Given the description of an element on the screen output the (x, y) to click on. 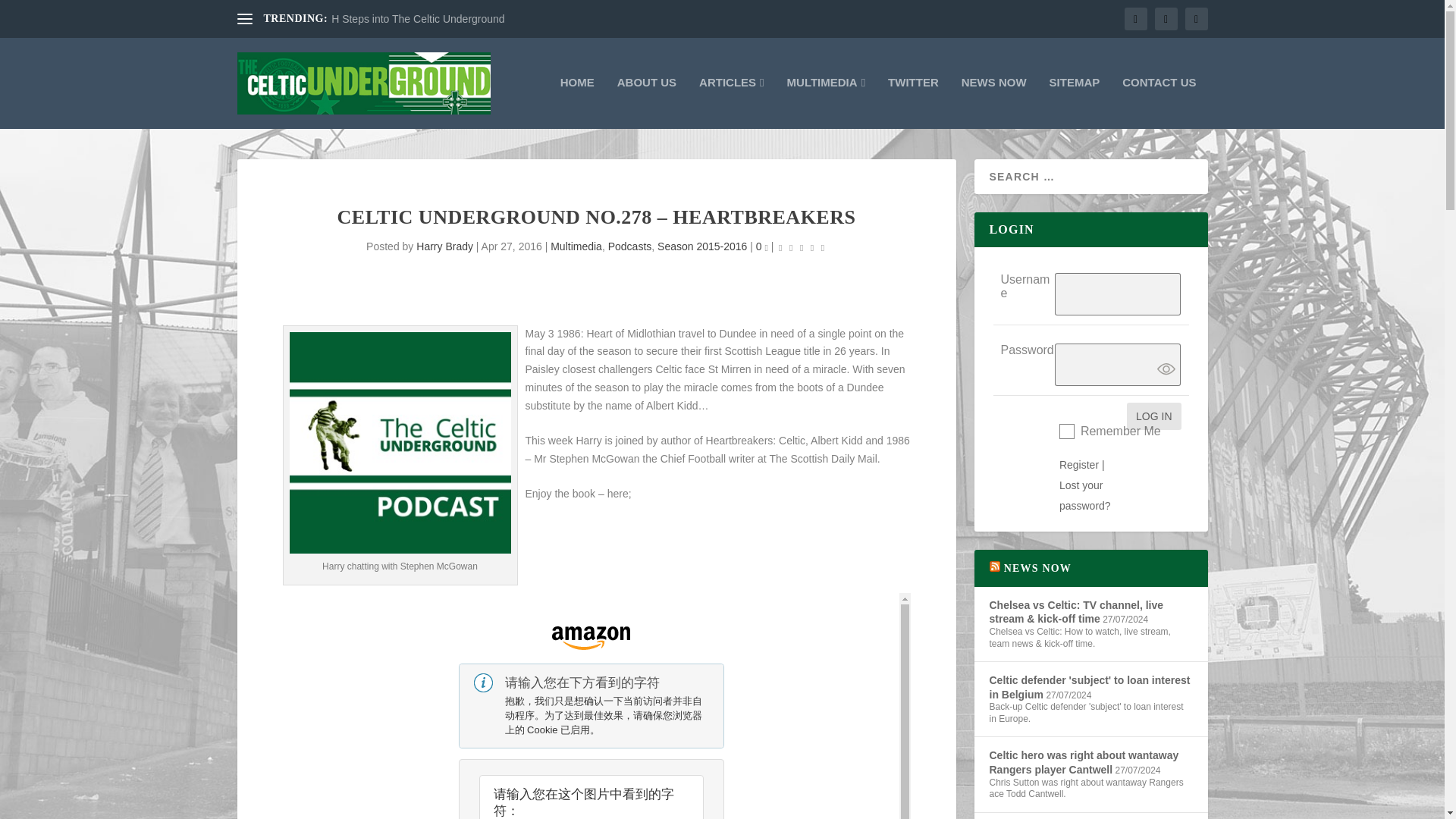
H Steps into The Celtic Underground (418, 19)
Log In (1153, 415)
Posts by Harry Brady (444, 246)
Rating: 0.00 (801, 247)
